Given the description of an element on the screen output the (x, y) to click on. 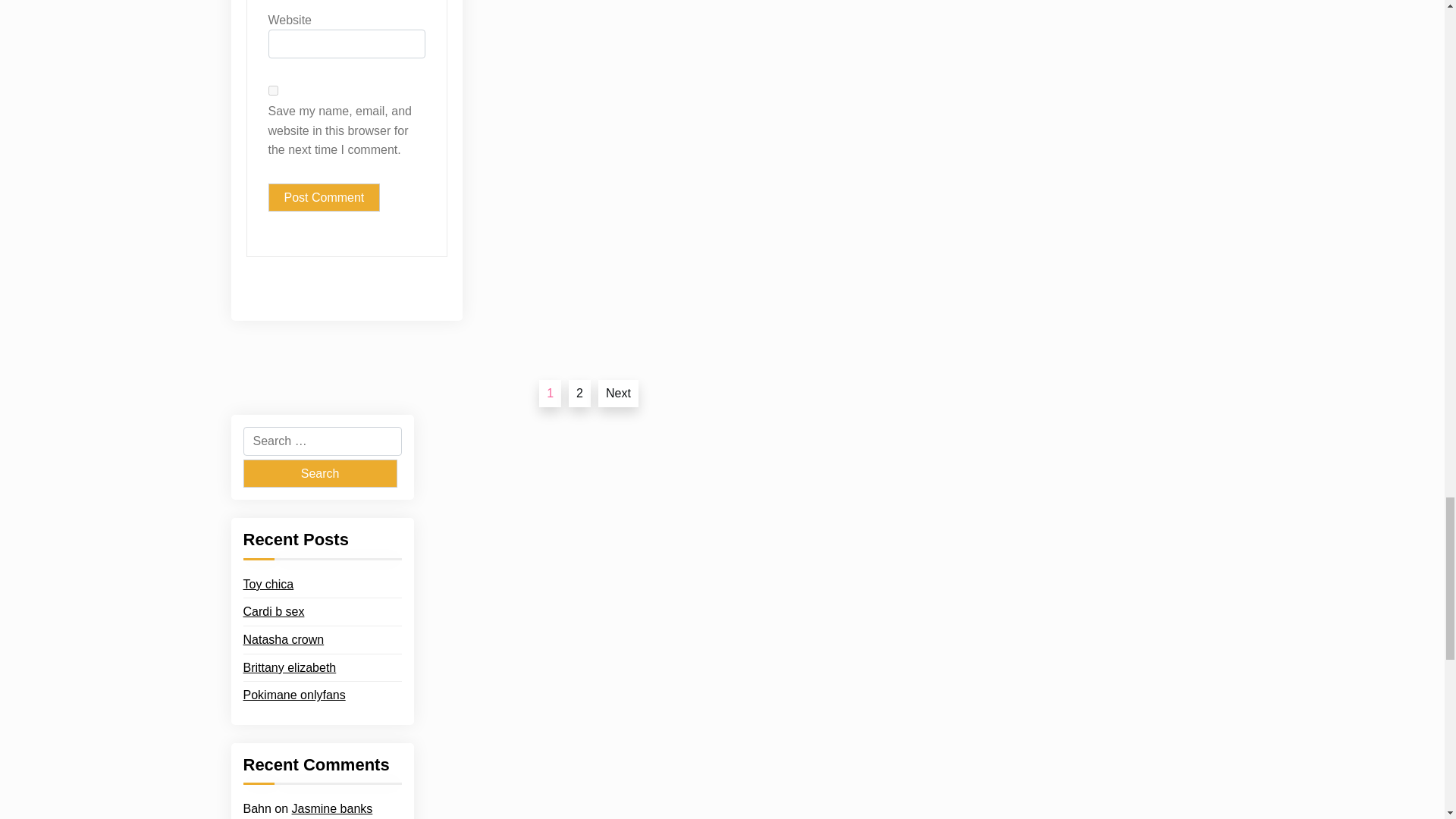
Search (319, 473)
Natasha crown (283, 639)
Next (618, 393)
Toy chica (268, 584)
Search (319, 473)
Brittany elizabeth (289, 668)
Post Comment (323, 197)
Search (319, 473)
Pokimane onlyfans (294, 695)
Cardi b sex (273, 611)
